Given the description of an element on the screen output the (x, y) to click on. 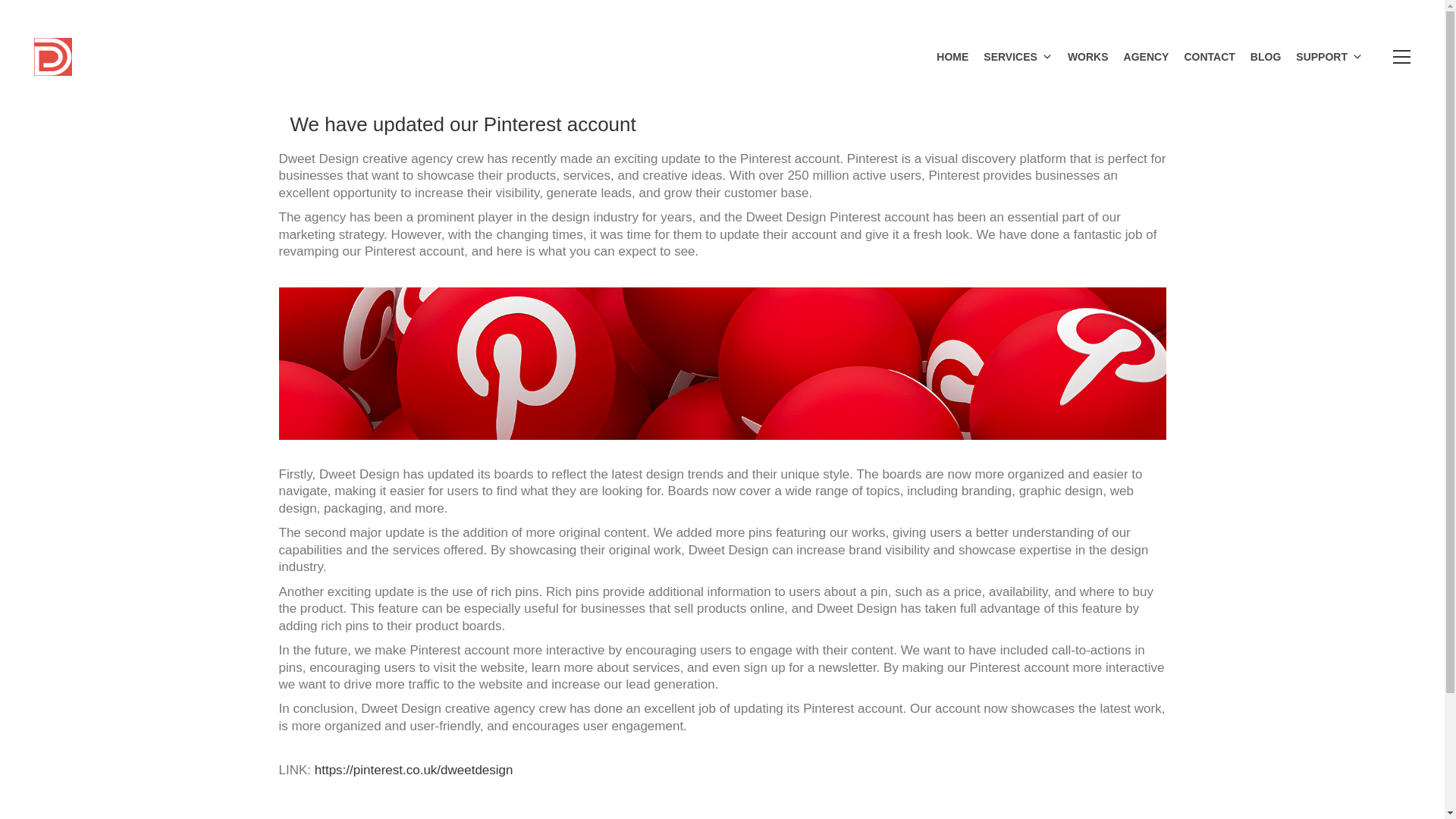
HOME (951, 56)
